Given the description of an element on the screen output the (x, y) to click on. 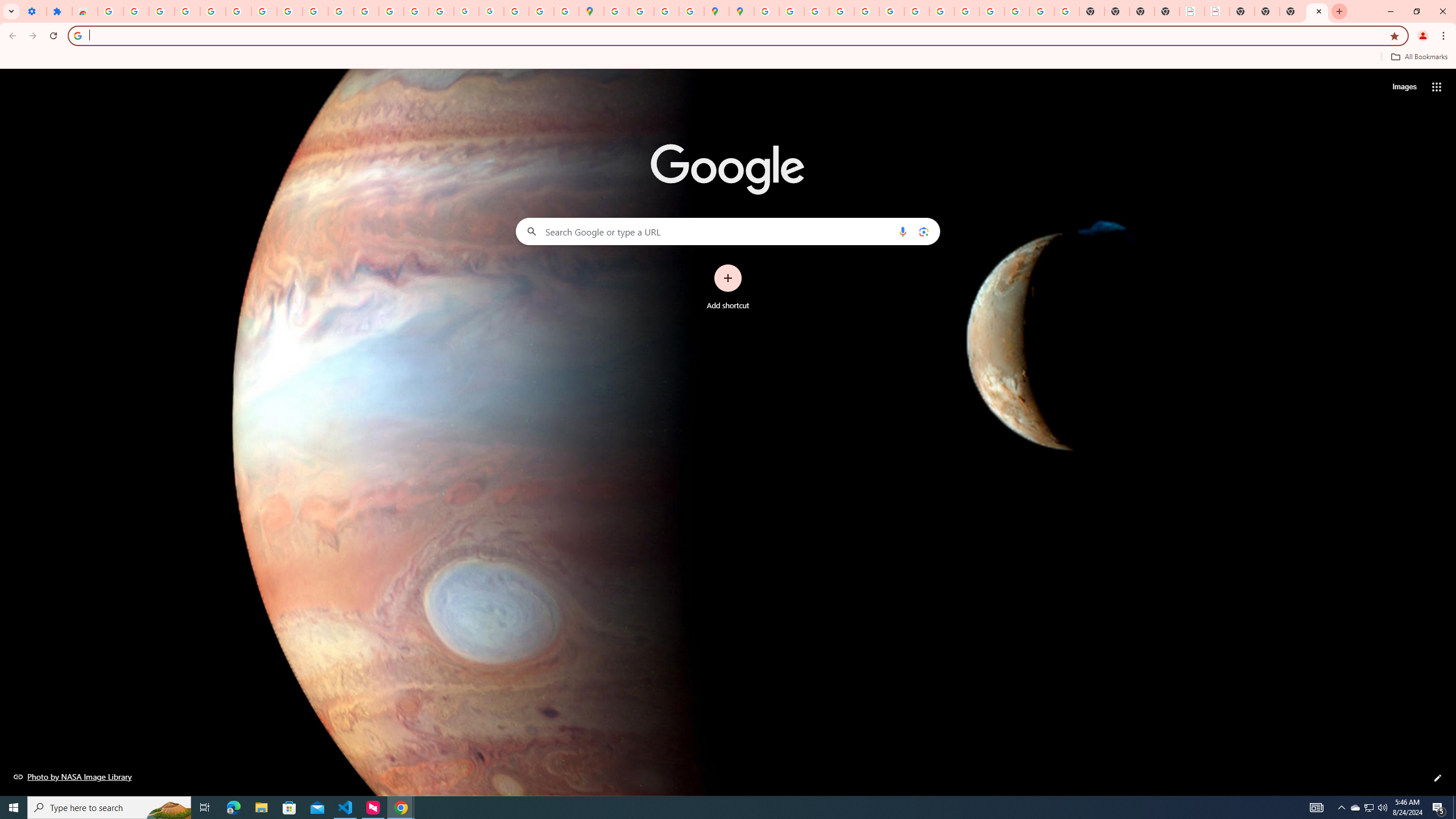
Photo by NASA Image Library (72, 776)
Safety in Our Products - Google Safety Center (691, 11)
Google Account (289, 11)
BAE Systems Brasil | BAE Systems (1216, 11)
New Tab (1317, 11)
